Given the description of an element on the screen output the (x, y) to click on. 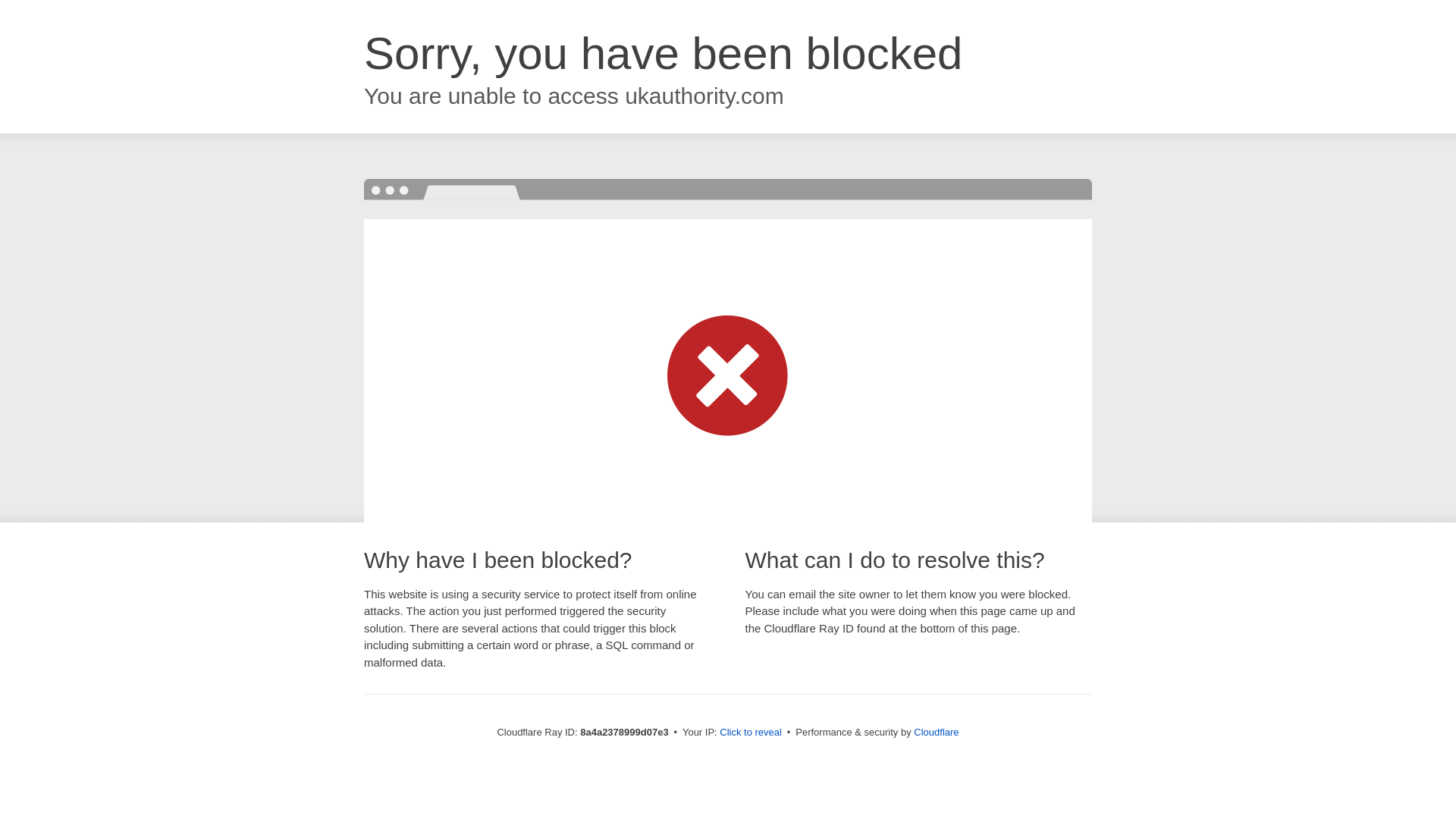
Cloudflare (936, 731)
Click to reveal (750, 732)
